Given the description of an element on the screen output the (x, y) to click on. 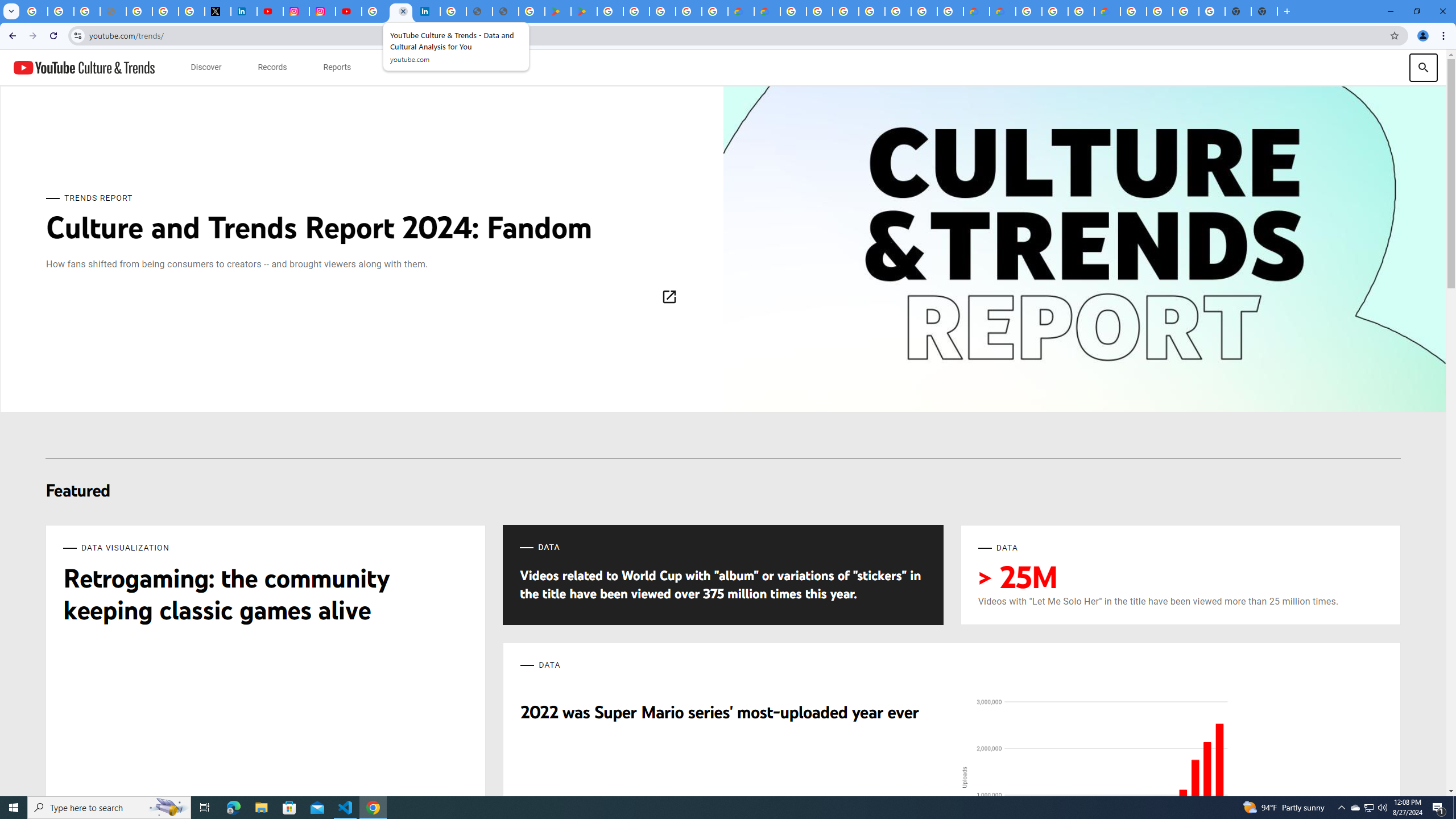
YouTube Culture & Trends (83, 67)
Google Cloud Platform (1159, 11)
Browse Chrome as a guest - Computer - Google Chrome Help (1080, 11)
Sign in - Google Accounts (165, 11)
YouTube Content Monetization Policies - How YouTube Works (269, 11)
